Given the description of an element on the screen output the (x, y) to click on. 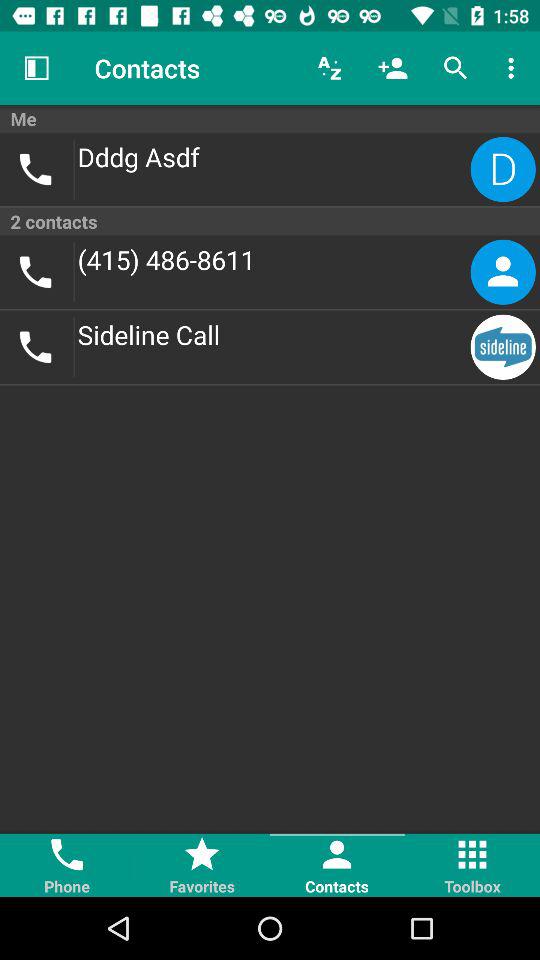
choose the icon above me icon (392, 67)
